Given the description of an element on the screen output the (x, y) to click on. 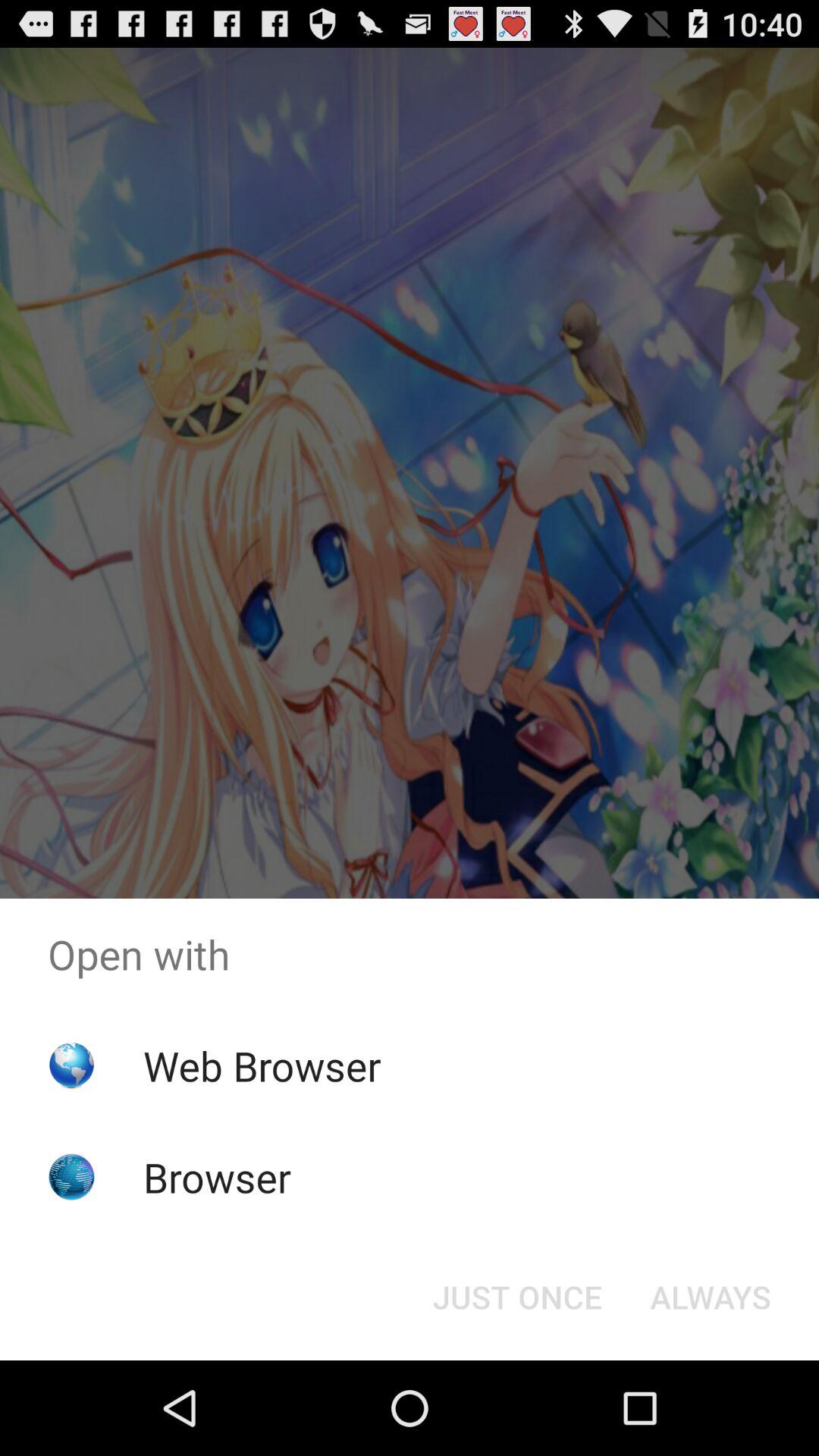
flip until web browser icon (262, 1065)
